Given the description of an element on the screen output the (x, y) to click on. 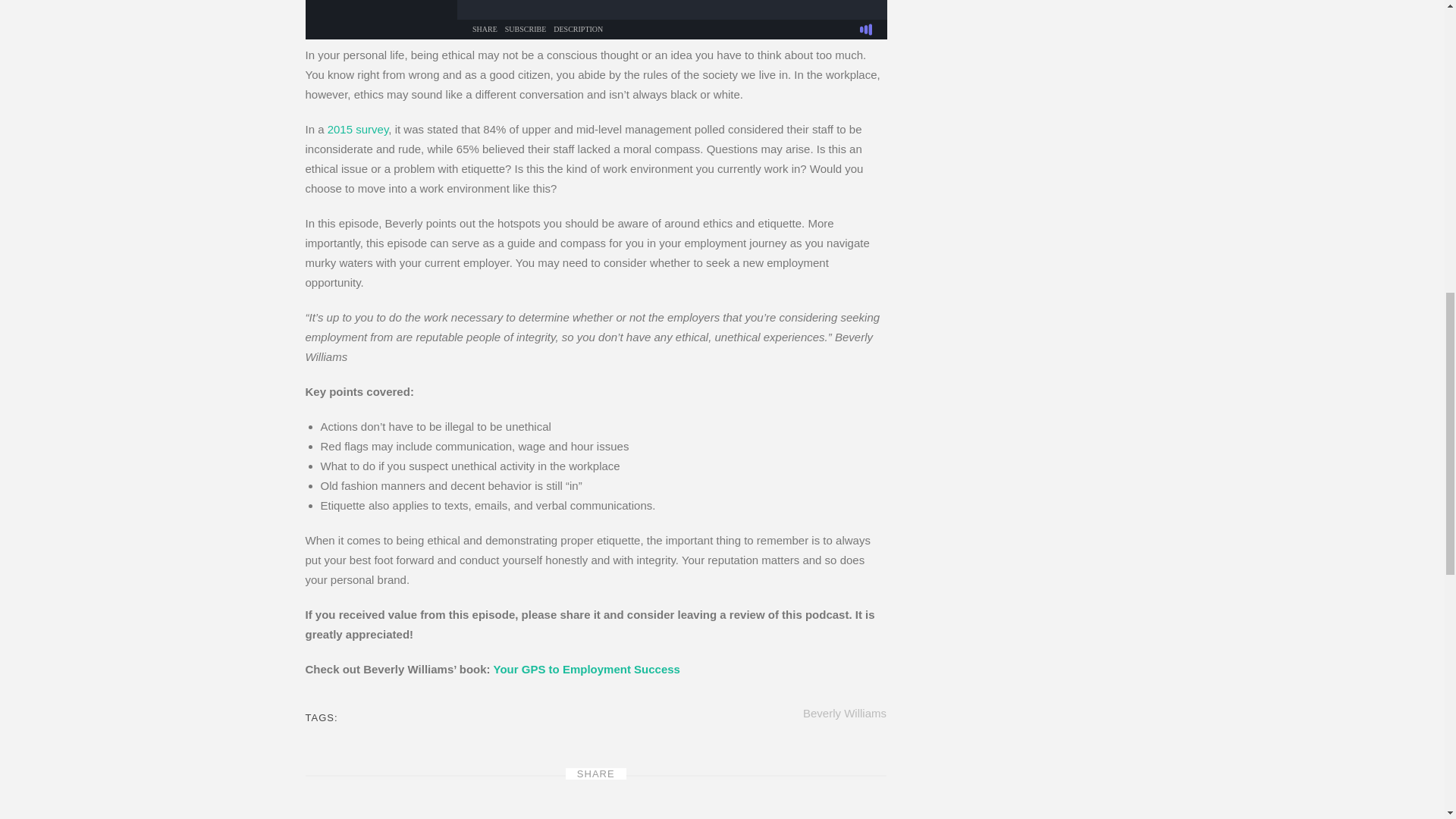
SHARE (596, 773)
2015 survey (357, 128)
Your GPS to Employment Success (586, 668)
Beverly Williams (844, 712)
